Given the description of an element on the screen output the (x, y) to click on. 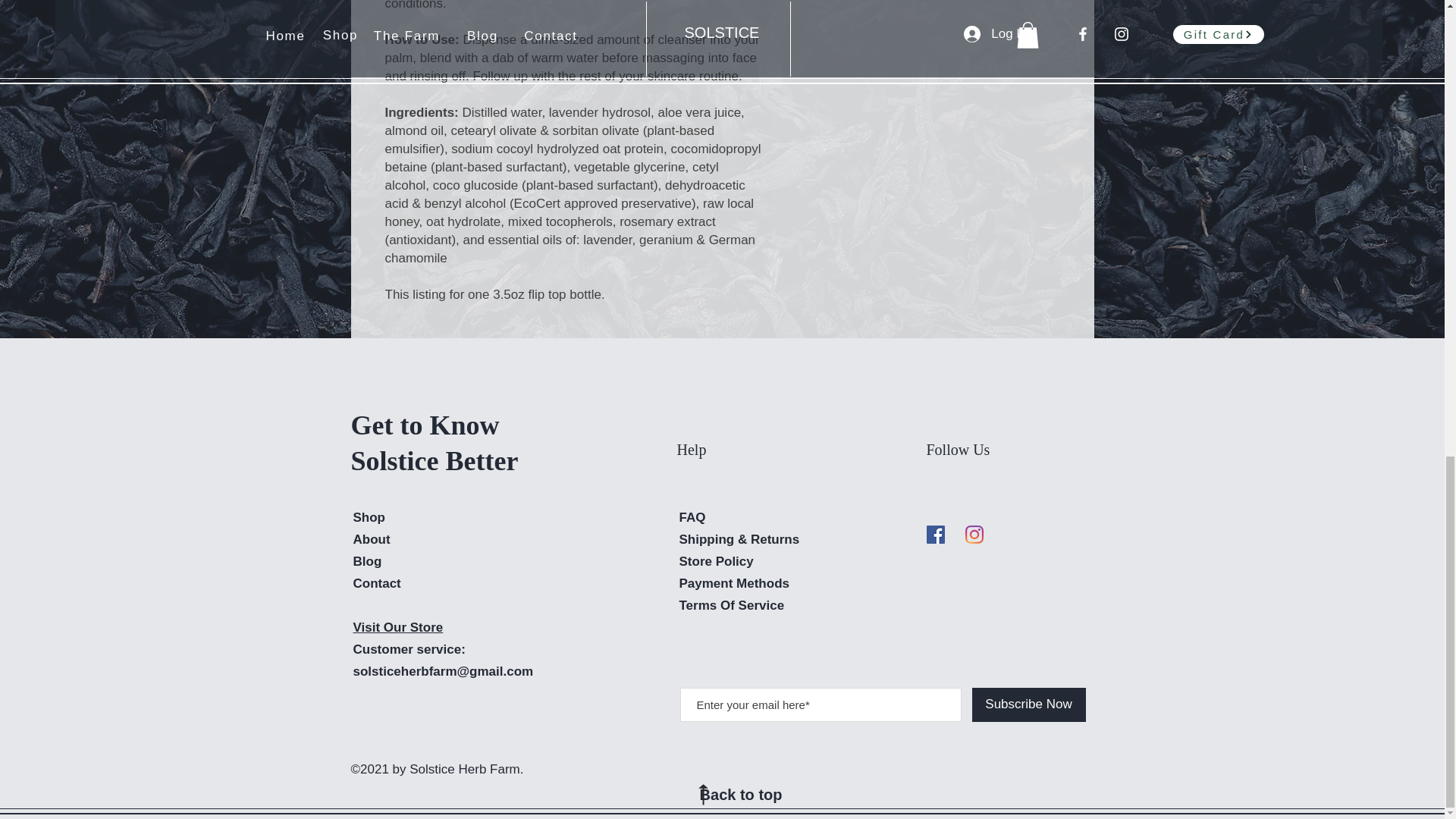
Contact (377, 583)
Visit Our Store (398, 626)
Blog (367, 561)
Store Policy (716, 561)
About (371, 539)
FAQ (692, 517)
Shop (369, 517)
Payment Methods  (736, 583)
